Given the description of an element on the screen output the (x, y) to click on. 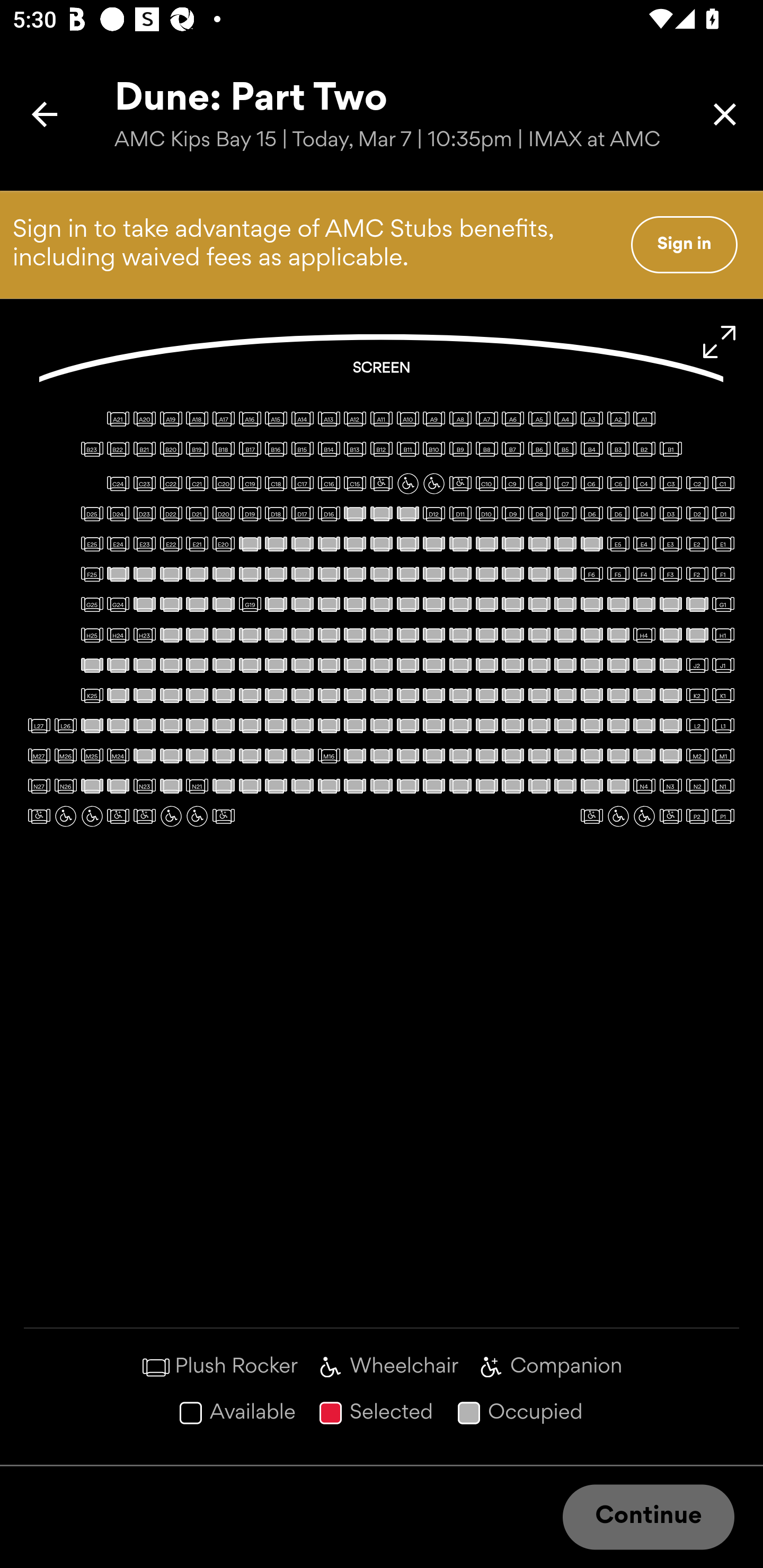
Back (44, 114)
Close (724, 114)
Sign in (684, 244)
Zoom (719, 342)
A21, Regular seat, available (118, 419)
A20, Regular seat, available (144, 419)
A19, Regular seat, available (170, 419)
A18, Regular seat, available (197, 419)
A17, Regular seat, available (223, 419)
A16, Regular seat, available (249, 419)
A15, Regular seat, available (276, 419)
A14, Regular seat, available (302, 419)
A13, Regular seat, available (328, 419)
A12, Regular seat, available (355, 419)
A11, Regular seat, available (381, 419)
A10, Regular seat, available (407, 419)
A9, Regular seat, available (433, 419)
A8, Regular seat, available (460, 419)
A7, Regular seat, available (486, 419)
A6, Regular seat, available (512, 419)
A5, Regular seat, available (539, 419)
A4, Regular seat, available (565, 419)
A3, Regular seat, available (591, 419)
A2, Regular seat, available (618, 419)
A1, Regular seat, available (644, 419)
B23, Regular seat, available (91, 449)
B22, Regular seat, available (118, 449)
B21, Regular seat, available (144, 449)
B20, Regular seat, available (170, 449)
B19, Regular seat, available (197, 449)
B18, Regular seat, available (223, 449)
B17, Regular seat, available (249, 449)
B16, Regular seat, available (276, 449)
B15, Regular seat, available (302, 449)
B14, Regular seat, available (328, 449)
B13, Regular seat, available (355, 449)
B12, Regular seat, available (381, 449)
B11, Regular seat, available (407, 449)
B10, Regular seat, available (433, 449)
B9, Regular seat, available (460, 449)
B8, Regular seat, available (486, 449)
B7, Regular seat, available (512, 449)
B6, Regular seat, available (539, 449)
B5, Regular seat, available (565, 449)
B4, Regular seat, available (591, 449)
B3, Regular seat, available (618, 449)
B2, Regular seat, available (644, 449)
B1, Regular seat, available (670, 449)
C24, Regular seat, available (118, 483)
C23, Regular seat, available (144, 483)
C22, Regular seat, available (170, 483)
C21, Regular seat, available (197, 483)
C20, Regular seat, available (223, 483)
C19, Regular seat, available (249, 483)
C18, Regular seat, available (276, 483)
C17, Regular seat, available (302, 483)
C16, Regular seat, available (328, 483)
C15, Regular seat, available (355, 483)
C14, Wheelchair companion seat, available (381, 483)
C13, Wheelchair space, available (407, 483)
C12, Wheelchair space, available (433, 483)
C11, Wheelchair companion seat, available (460, 483)
C10, Regular seat, available (486, 483)
C9, Regular seat, available (512, 483)
C8, Regular seat, available (539, 483)
C7, Regular seat, available (565, 483)
C6, Regular seat, available (591, 483)
C5, Regular seat, available (618, 483)
C4, Regular seat, available (644, 483)
C3, Regular seat, available (670, 483)
C2, Regular seat, available (697, 483)
C1, Regular seat, available (723, 483)
D25, Regular seat, available (91, 513)
D24, Regular seat, available (118, 513)
D23, Regular seat, available (144, 513)
D22, Regular seat, available (170, 513)
D21, Regular seat, available (197, 513)
D20, Regular seat, available (223, 513)
D19, Regular seat, available (249, 513)
D18, Regular seat, available (276, 513)
D17, Regular seat, available (302, 513)
D16, Regular seat, available (328, 513)
D12, Regular seat, available (433, 513)
D11, Regular seat, available (460, 513)
D10, Regular seat, available (486, 513)
D9, Regular seat, available (512, 513)
D8, Regular seat, available (539, 513)
D7, Regular seat, available (565, 513)
D6, Regular seat, available (591, 513)
D5, Regular seat, available (618, 513)
D4, Regular seat, available (644, 513)
D3, Regular seat, available (670, 513)
D2, Regular seat, available (697, 513)
D1, Regular seat, available (723, 513)
E25, Regular seat, available (91, 543)
E24, Regular seat, available (118, 543)
E23, Regular seat, available (144, 543)
E22, Regular seat, available (170, 543)
E21, Regular seat, available (197, 543)
E20, Regular seat, available (223, 543)
E5, Regular seat, available (618, 543)
E4, Regular seat, available (644, 543)
E3, Regular seat, available (670, 543)
E2, Regular seat, available (697, 543)
E1, Regular seat, available (723, 543)
F25, Regular seat, available (91, 574)
F6, Regular seat, available (591, 574)
F5, Regular seat, available (618, 574)
F4, Regular seat, available (644, 574)
F3, Regular seat, available (670, 574)
F2, Regular seat, available (697, 574)
F1, Regular seat, available (723, 574)
G25, Regular seat, available (91, 604)
G24, Regular seat, available (118, 604)
G19, Regular seat, available (249, 604)
G1, Regular seat, available (723, 604)
H25, Regular seat, available (91, 634)
H24, Regular seat, available (118, 634)
H23, Regular seat, available (144, 634)
H4, Regular seat, available (644, 634)
H1, Regular seat, available (723, 634)
J2, Regular seat, available (697, 665)
J1, Regular seat, available (723, 665)
K25, Regular seat, available (91, 695)
K2, Regular seat, available (697, 695)
K1, Regular seat, available (723, 695)
L27, Regular seat, available (39, 725)
L26, Regular seat, available (65, 725)
L2, Regular seat, available (697, 725)
L1, Regular seat, available (723, 725)
M27, Regular seat, available (39, 755)
M26, Regular seat, available (65, 755)
M25, Regular seat, available (91, 755)
M24, Regular seat, available (118, 755)
M16, Regular seat, available (328, 755)
M2, Regular seat, available (697, 755)
M1, Regular seat, available (723, 755)
N27, Regular seat, available (39, 786)
N26, Regular seat, available (65, 786)
N23, Regular seat, available (144, 786)
N21, Regular seat, available (197, 786)
N4, Regular seat, available (644, 786)
N3, Regular seat, available (670, 786)
N2, Regular seat, available (697, 786)
N1, Regular seat, available (723, 786)
P14, Wheelchair companion seat, available (39, 816)
P13, Wheelchair space, available (65, 816)
P12, Wheelchair space, available (91, 816)
P11, Wheelchair companion seat, available (118, 816)
P10, Wheelchair companion seat, available (144, 816)
P9, Wheelchair space, available (170, 816)
P8, Wheelchair space, available (197, 816)
P7, Wheelchair companion seat, available (223, 816)
P6, Wheelchair companion seat, available (591, 816)
P5, Wheelchair space, available (618, 816)
P4, Wheelchair space, available (644, 816)
P3, Wheelchair companion seat, available (670, 816)
P2, Regular seat, available (697, 816)
P1, Regular seat, available (723, 816)
